Given the description of an element on the screen output the (x, y) to click on. 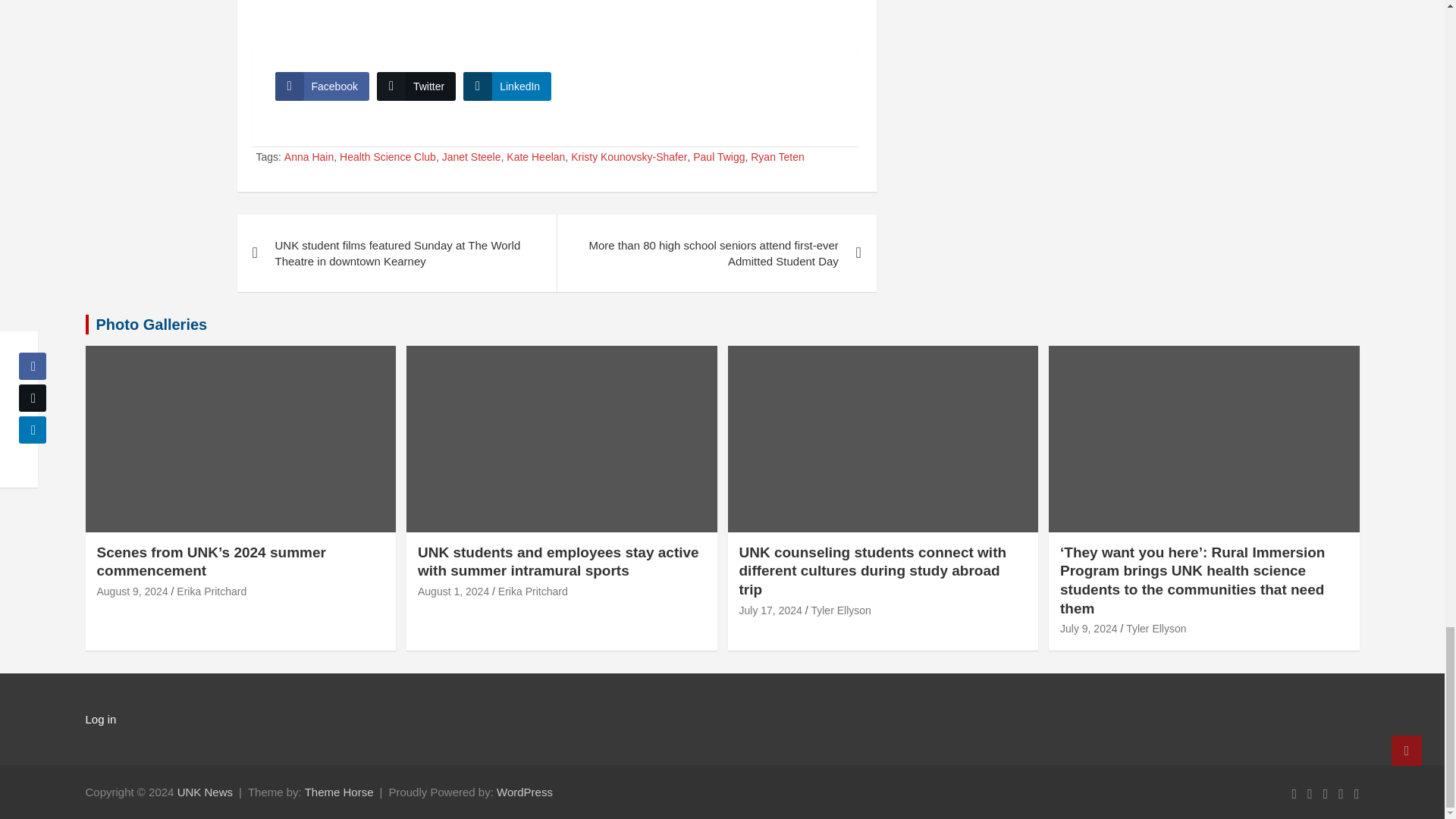
Facebook (321, 86)
Theme Horse (339, 791)
Health Science Club (387, 157)
Kate Heelan (535, 157)
Twitter (416, 86)
UNK News (204, 791)
Janet Steele (471, 157)
Anna Hain (308, 157)
